Given the description of an element on the screen output the (x, y) to click on. 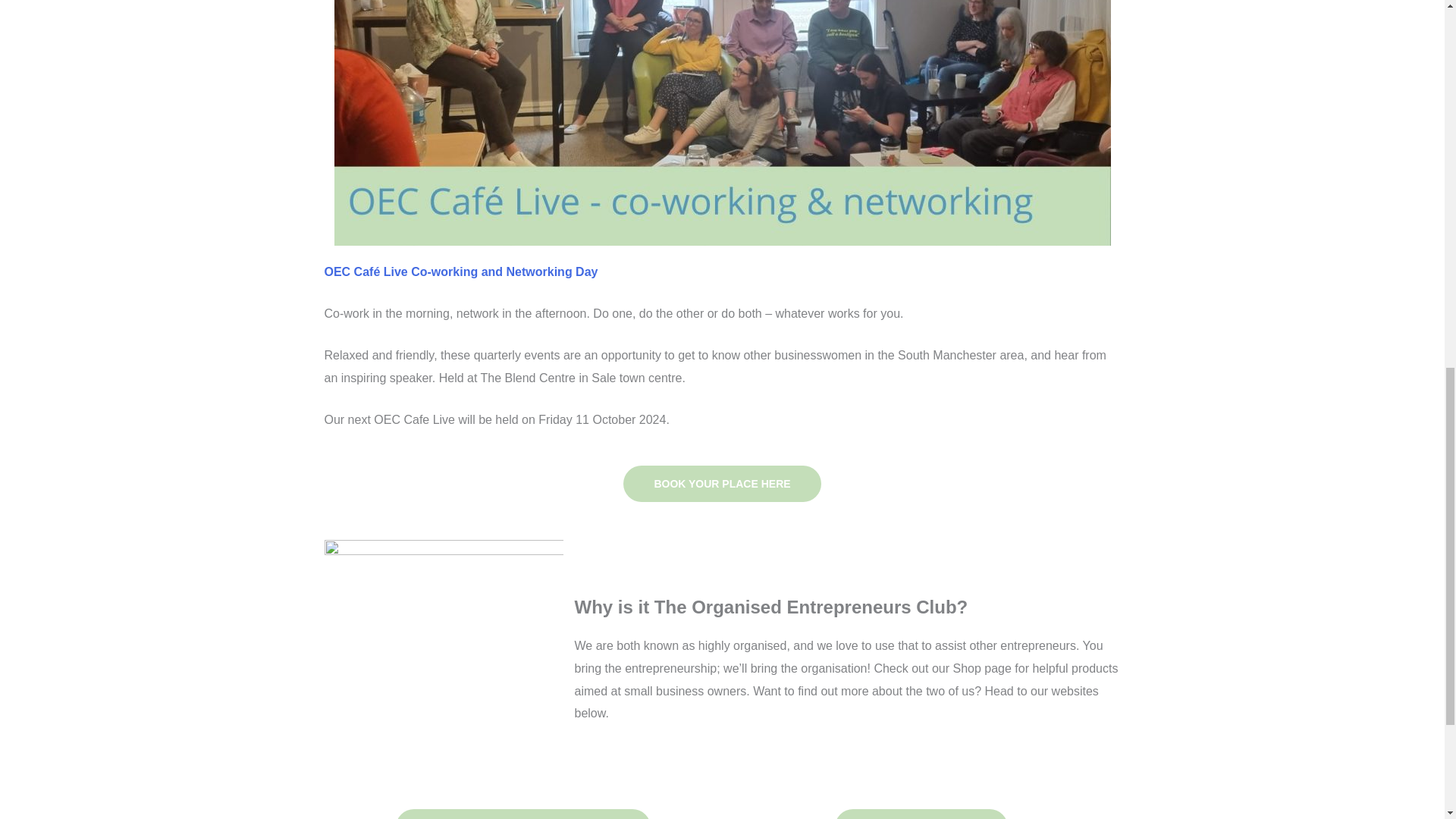
BOOK YOUR PLACE HERE (722, 484)
Why is it The Organised Entrepreneurs Club? (771, 607)
CAROLINE BOARDMAN CONSULTING (523, 814)
CLEAR DAY WEBSITE (920, 814)
